Given the description of an element on the screen output the (x, y) to click on. 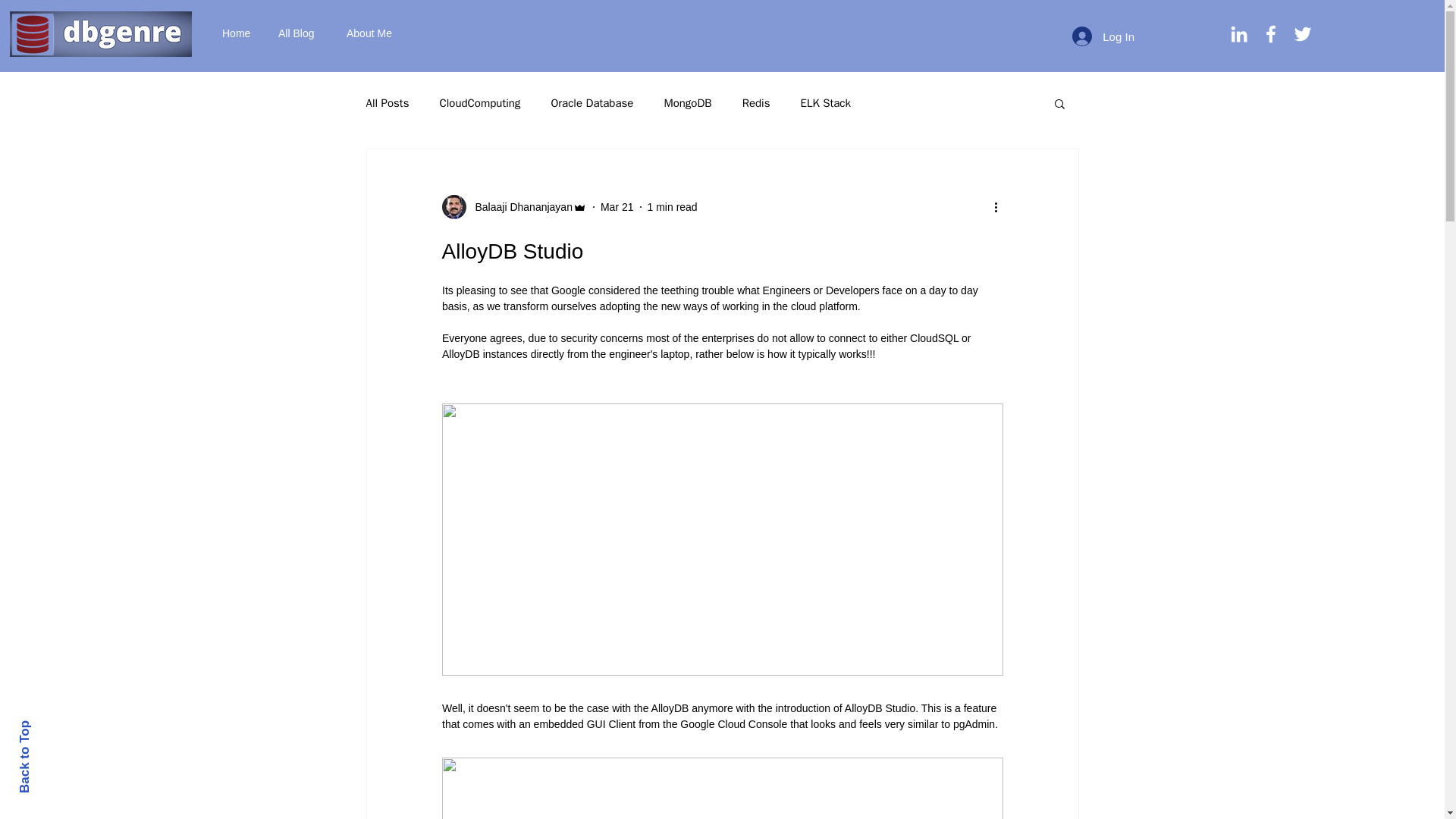
Balaaji Dhananjayan (518, 206)
About Me (373, 33)
All Posts (387, 102)
Redis (756, 102)
Log In (1102, 36)
ELK Stack (824, 102)
Home (238, 33)
Oracle Database (591, 102)
Mar 21 (616, 205)
MongoDB (687, 102)
All Blog (300, 33)
CloudComputing (479, 102)
1 min read (672, 205)
